Given the description of an element on the screen output the (x, y) to click on. 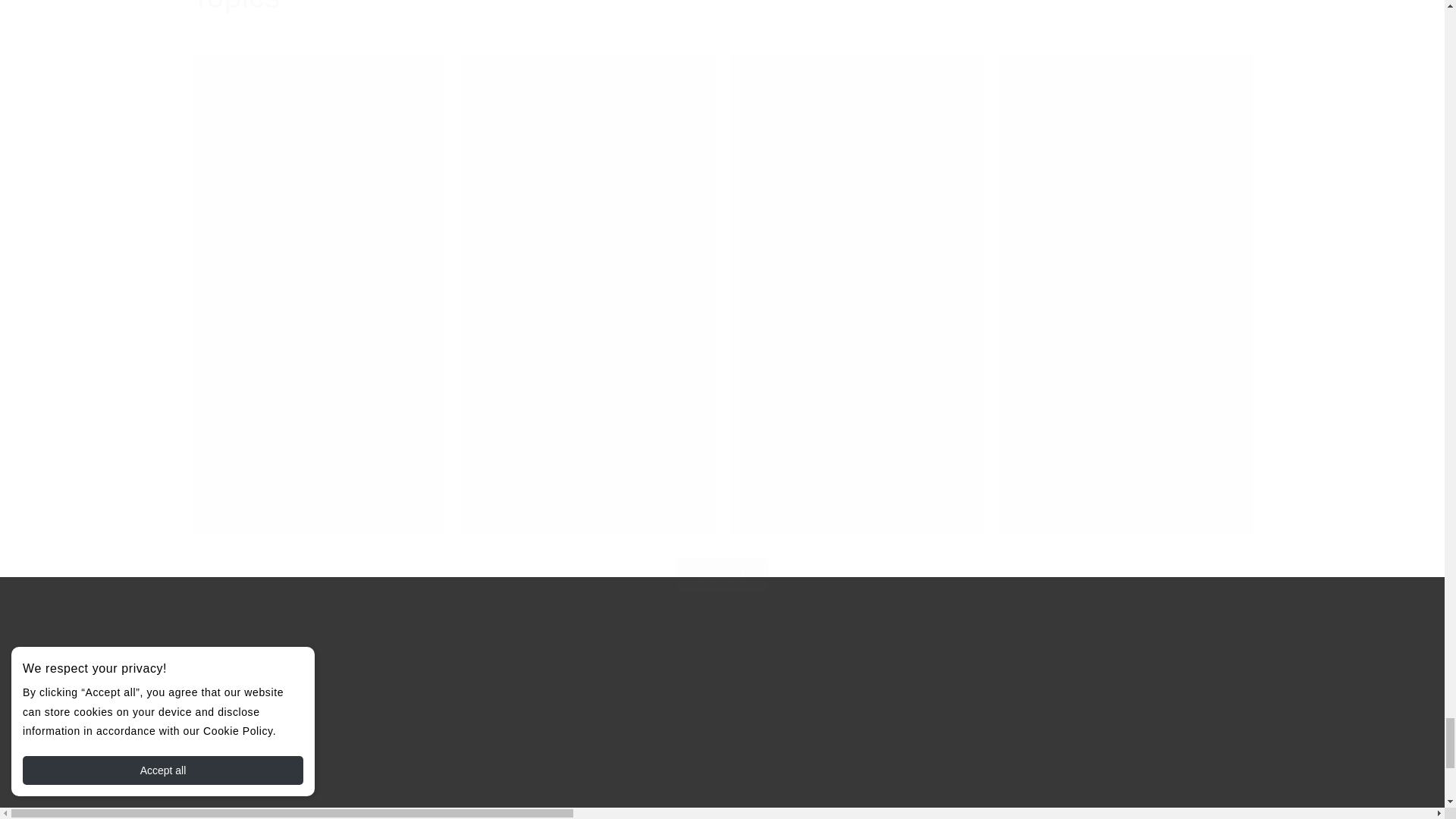
Topics (234, 8)
View all (721, 556)
